Given the description of an element on the screen output the (x, y) to click on. 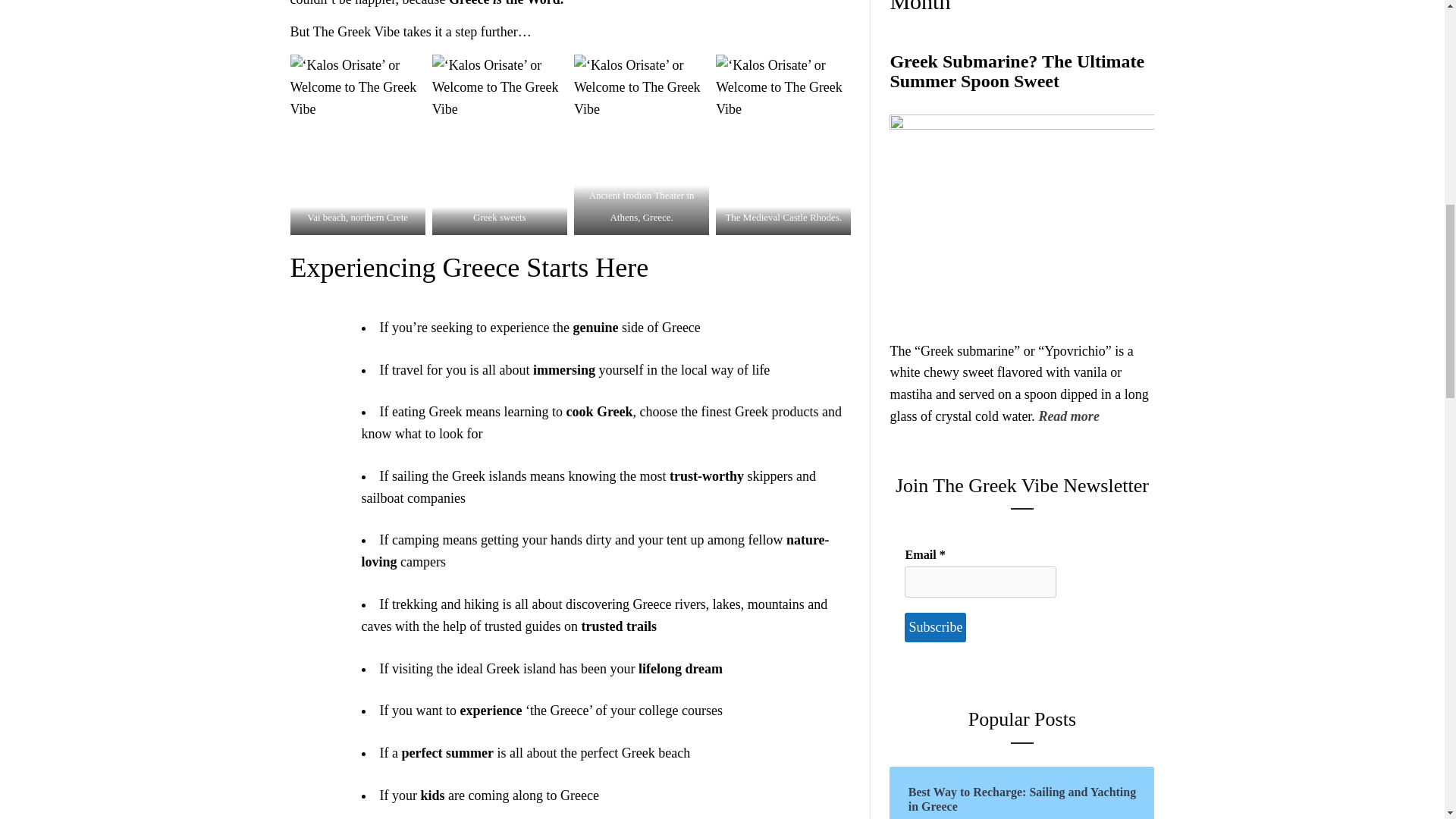
Subscribe (935, 627)
Email (980, 581)
